Given the description of an element on the screen output the (x, y) to click on. 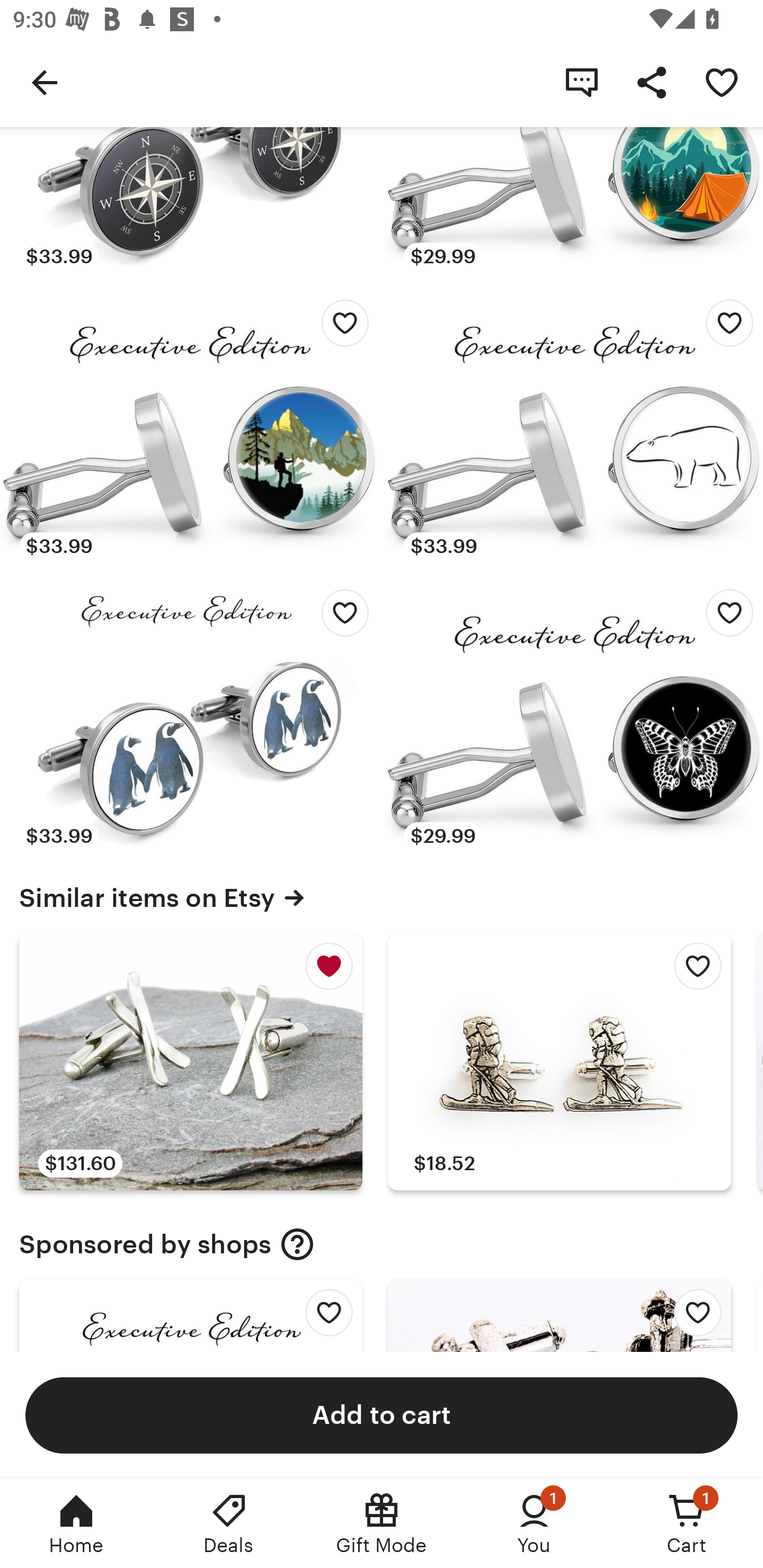
Navigate up (44, 81)
Contact shop (581, 81)
Share (651, 81)
Similar items on Etsy  (381, 897)
Sponsored by shops Sponsored by shops About (381, 1243)
Add Ski Cuff Links to favorites (692, 1317)
Add to cart (381, 1414)
Deals (228, 1523)
Gift Mode (381, 1523)
You, 1 new notification You (533, 1523)
Cart, 1 new notification Cart (686, 1523)
